Given the description of an element on the screen output the (x, y) to click on. 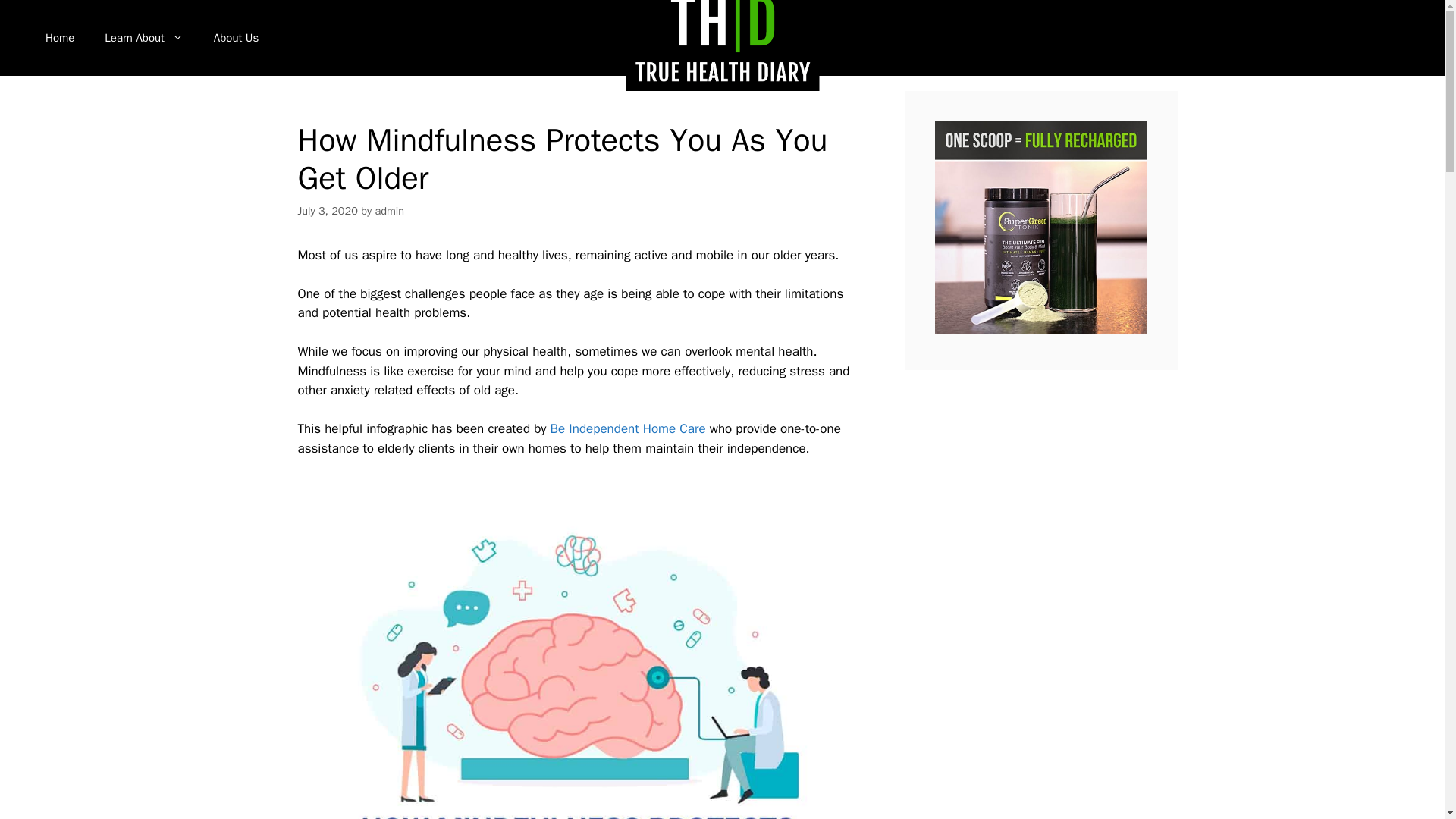
admin (389, 210)
Be Independent Home Care (628, 428)
View all posts by admin (389, 210)
Home (59, 37)
About Us (235, 37)
Learn About (143, 37)
